Given the description of an element on the screen output the (x, y) to click on. 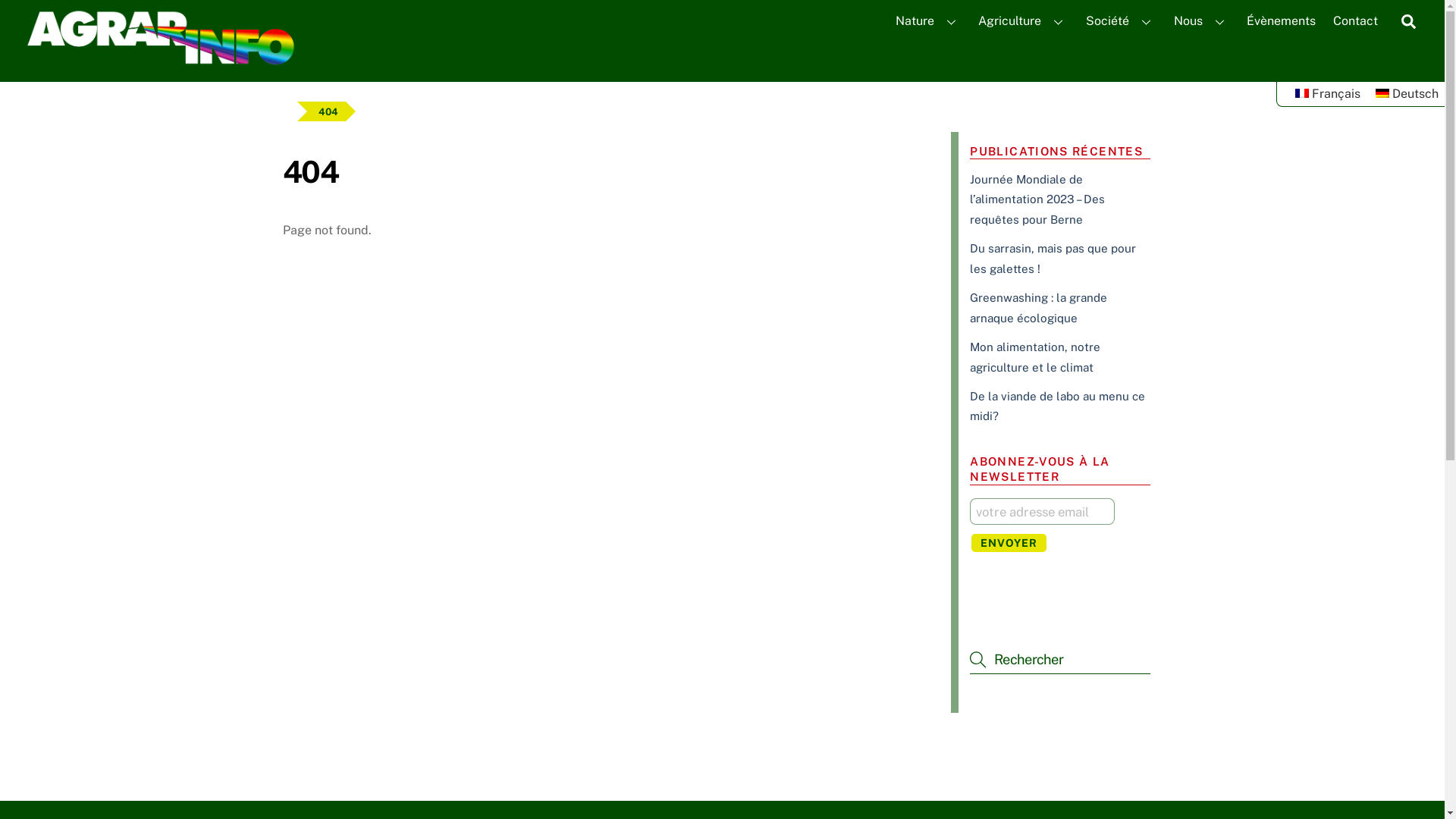
agrarinfo_logo_RGBneg Element type: hover (159, 37)
De la viande de labo au menu ce midi? Element type: text (1057, 405)
Rechercher Element type: hover (1059, 659)
Deutsch Element type: hover (1382, 92)
Nous Element type: text (1201, 20)
Agriculture Element type: text (1023, 20)
Rechercher Element type: text (1408, 20)
Du sarrasin, mais pas que pour les galettes ! Element type: text (1052, 257)
Nature Element type: text (928, 20)
404 Element type: text (327, 111)
agrarinfo.ch Element type: hover (159, 60)
Mon alimentation, notre agriculture et le climat Element type: text (1034, 356)
Deutsch Element type: text (1406, 93)
Contact Element type: text (1355, 20)
Envoyer Element type: text (1008, 542)
